Given the description of an element on the screen output the (x, y) to click on. 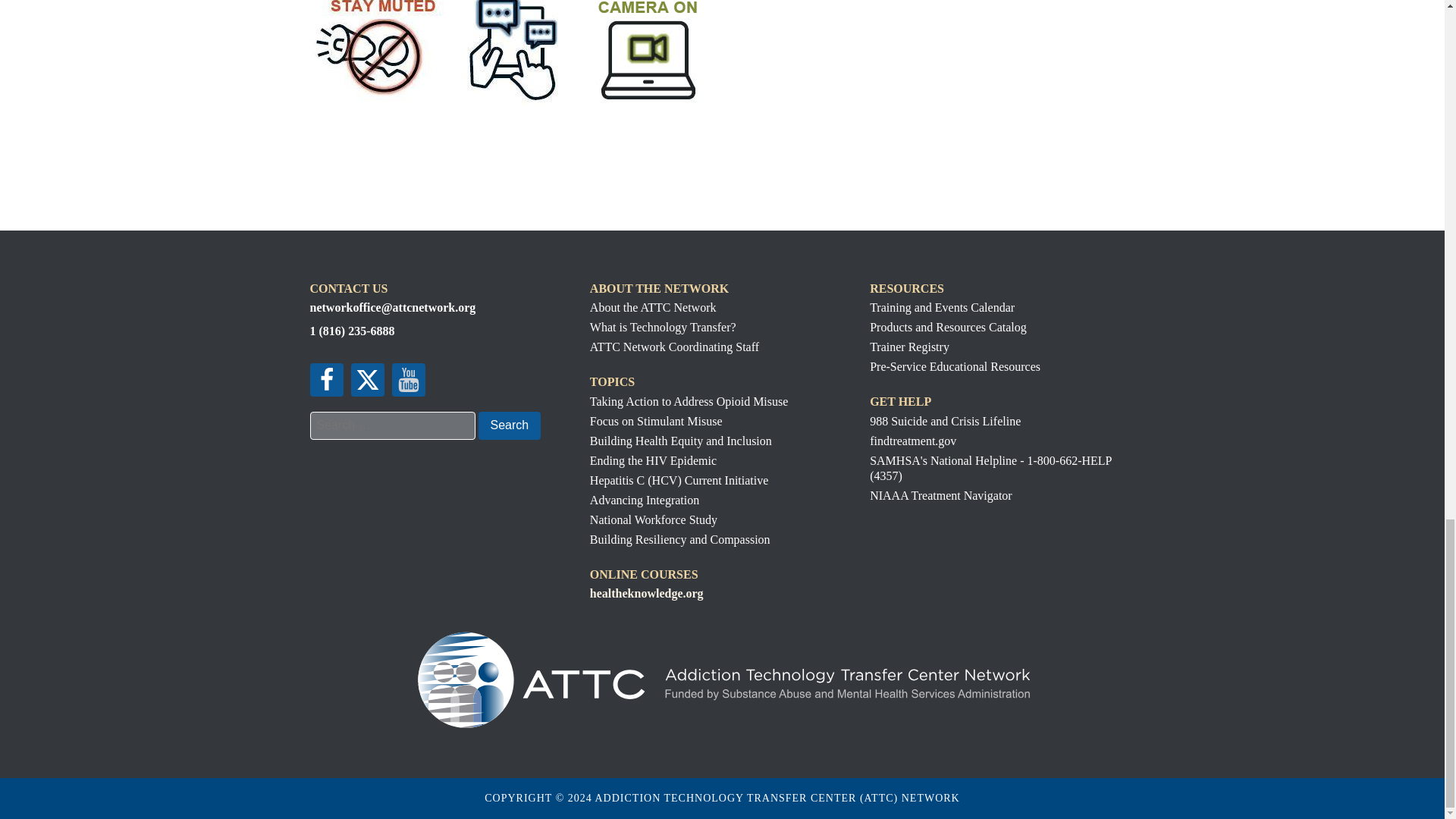
Search (508, 424)
Search (508, 424)
